Given the description of an element on the screen output the (x, y) to click on. 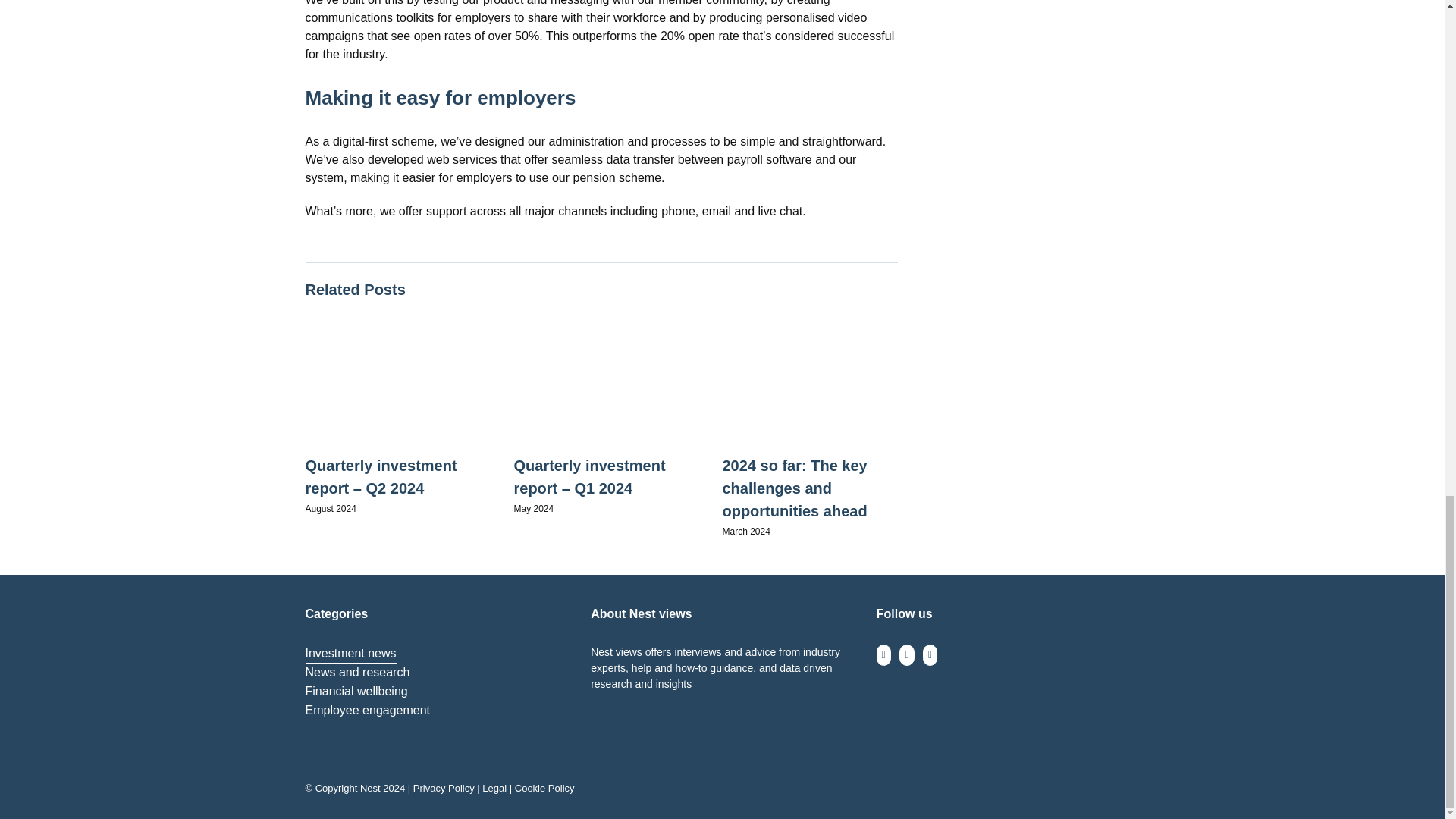
2024 so far: The key challenges and opportunities ahead (794, 488)
Investment news (350, 653)
Financial wellbeing (355, 691)
2024 so far: The key challenges and opportunities ahead (794, 488)
Employee engagement (366, 710)
Privacy Policy (443, 787)
News and research (356, 672)
